Given the description of an element on the screen output the (x, y) to click on. 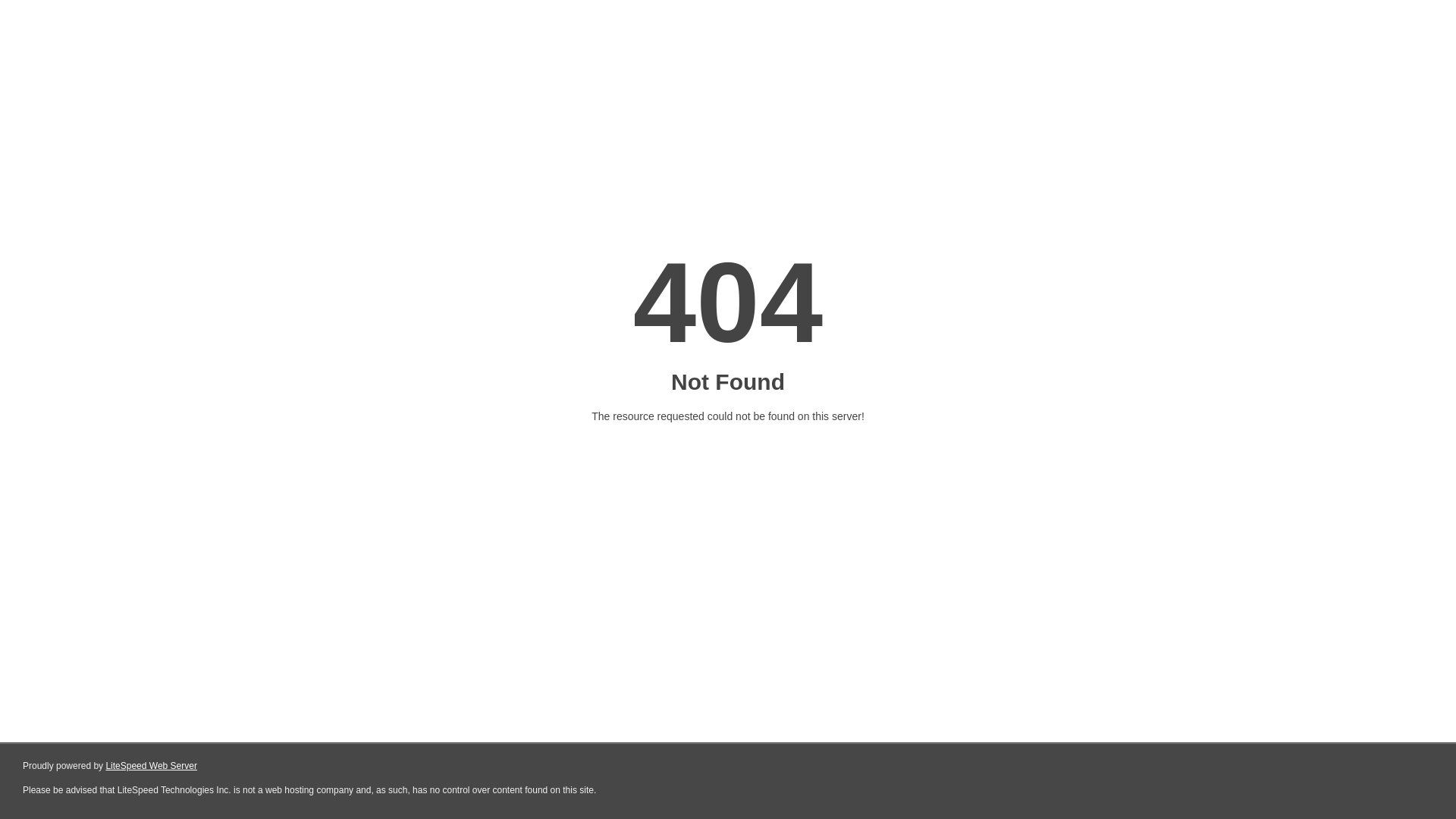
LiteSpeed Web Server Element type: text (151, 765)
